Given the description of an element on the screen output the (x, y) to click on. 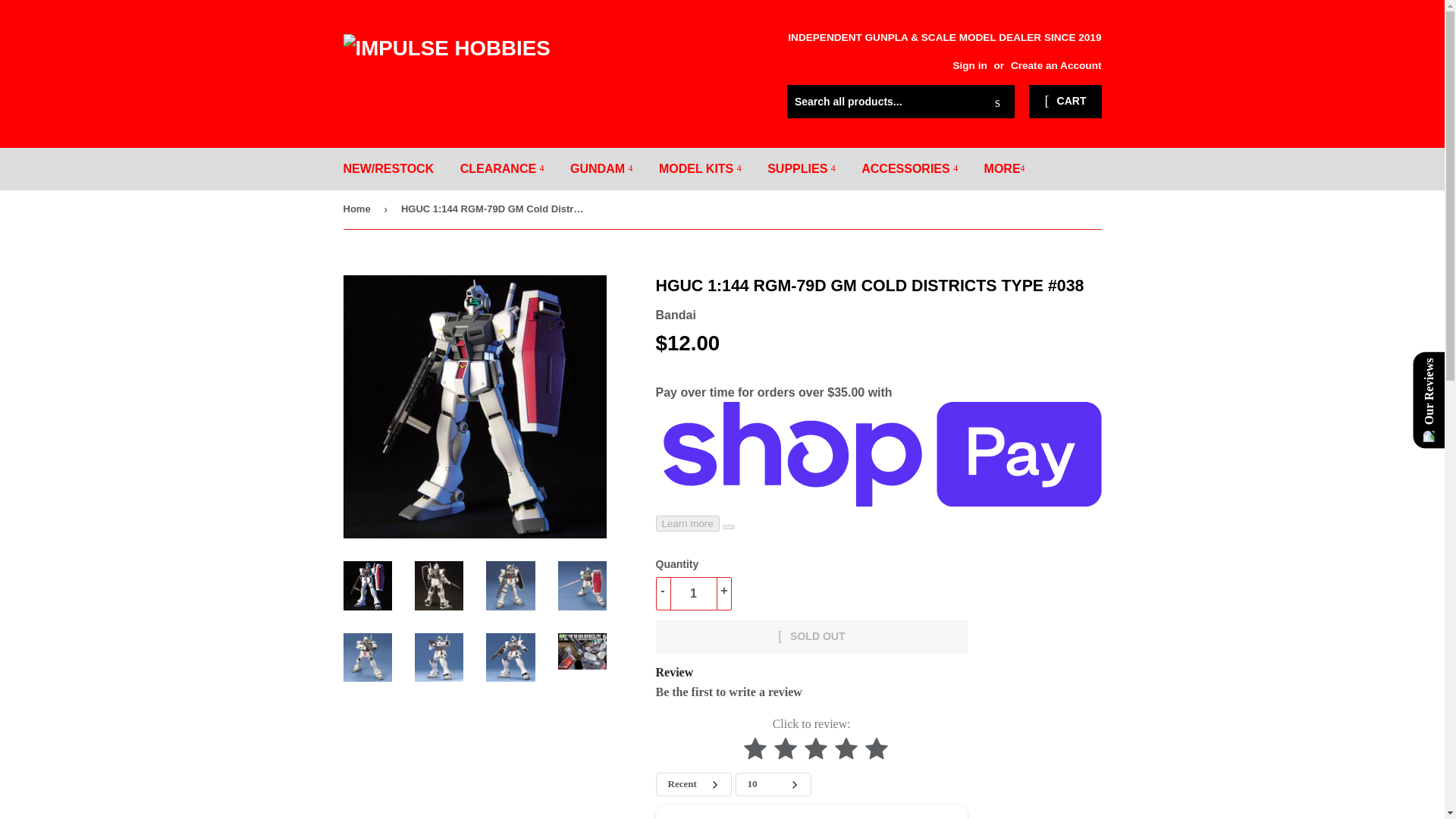
Sign in (969, 65)
Search (996, 101)
Create an Account (1056, 65)
CART (1064, 101)
1 (692, 593)
